Given the description of an element on the screen output the (x, y) to click on. 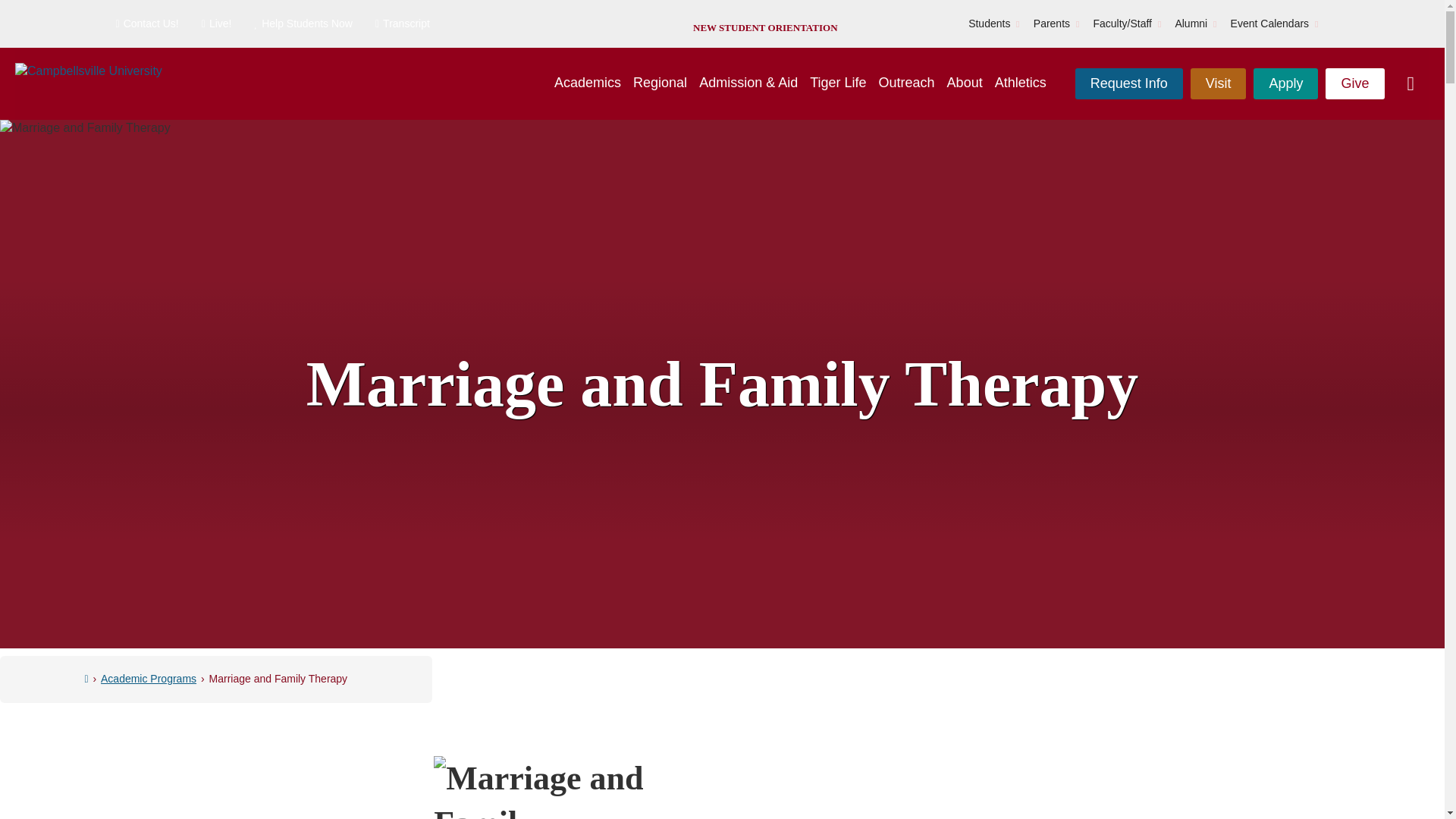
NEW STUDENT ORIENTATION (765, 27)
Help Students Now (302, 24)
Contact Us! (146, 24)
Live! (216, 24)
Transcript (402, 24)
Parents (1051, 24)
Students (989, 24)
Campbellsville University Logo (87, 83)
